Given the description of an element on the screen output the (x, y) to click on. 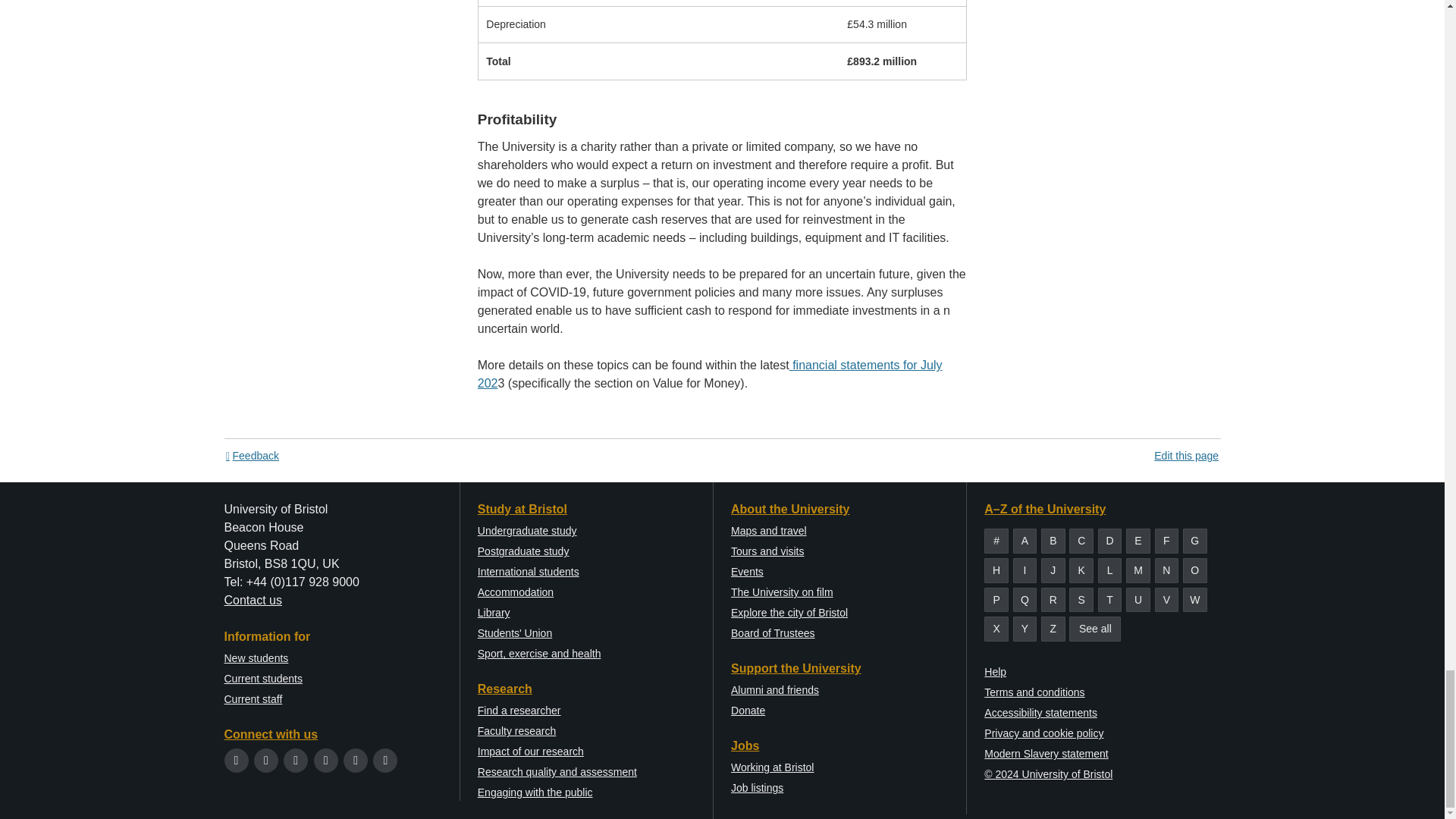
Flickr (384, 760)
LinkedIn (355, 760)
Twitter (236, 760)
Facebook (265, 760)
Instagram (295, 760)
YouTube (325, 760)
financial statements for July 202 (709, 373)
